Given the description of an element on the screen output the (x, y) to click on. 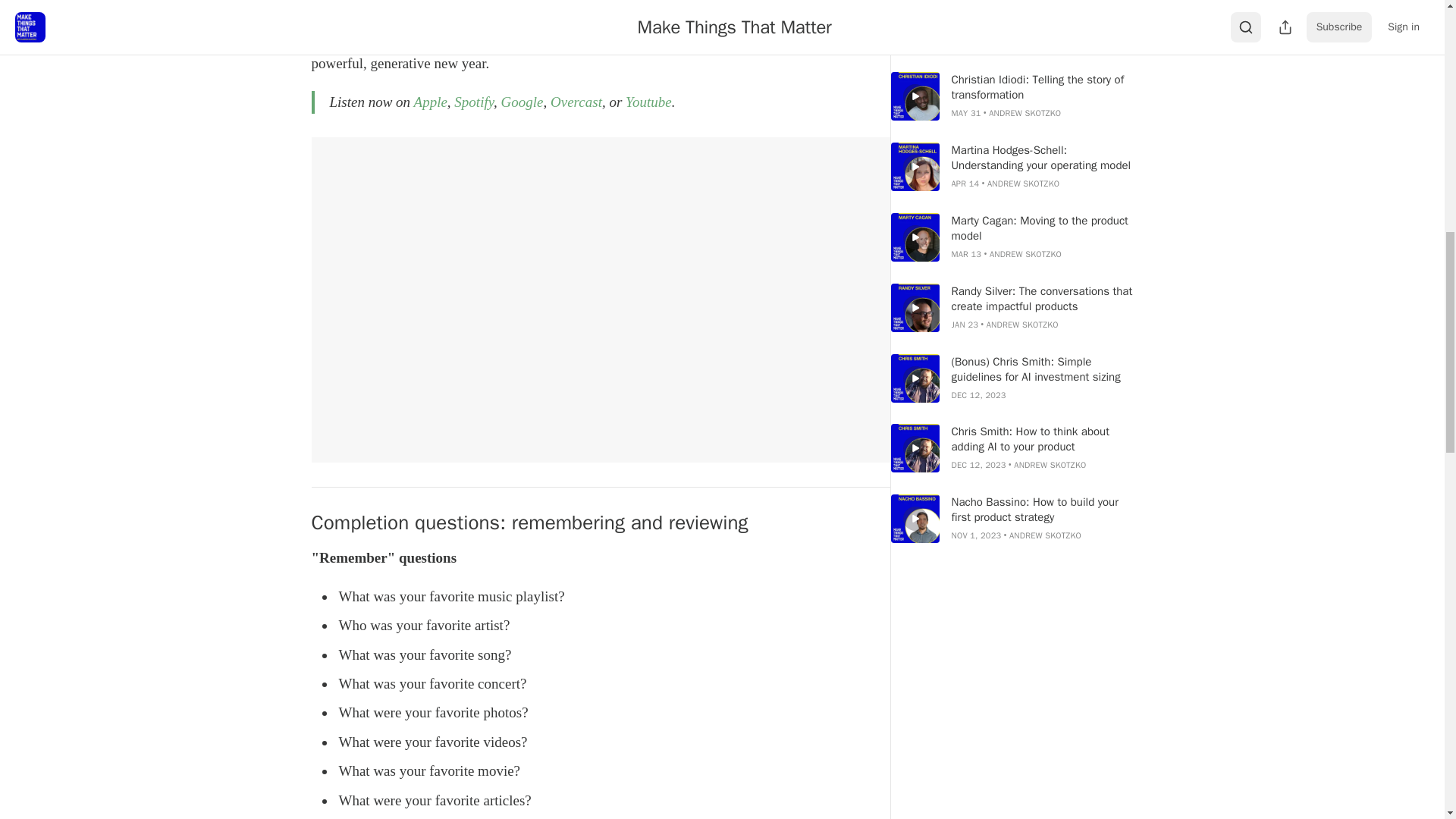
Google (521, 101)
Overcast (576, 101)
Apple (429, 101)
Spotify (473, 101)
Youtube (648, 101)
